Given the description of an element on the screen output the (x, y) to click on. 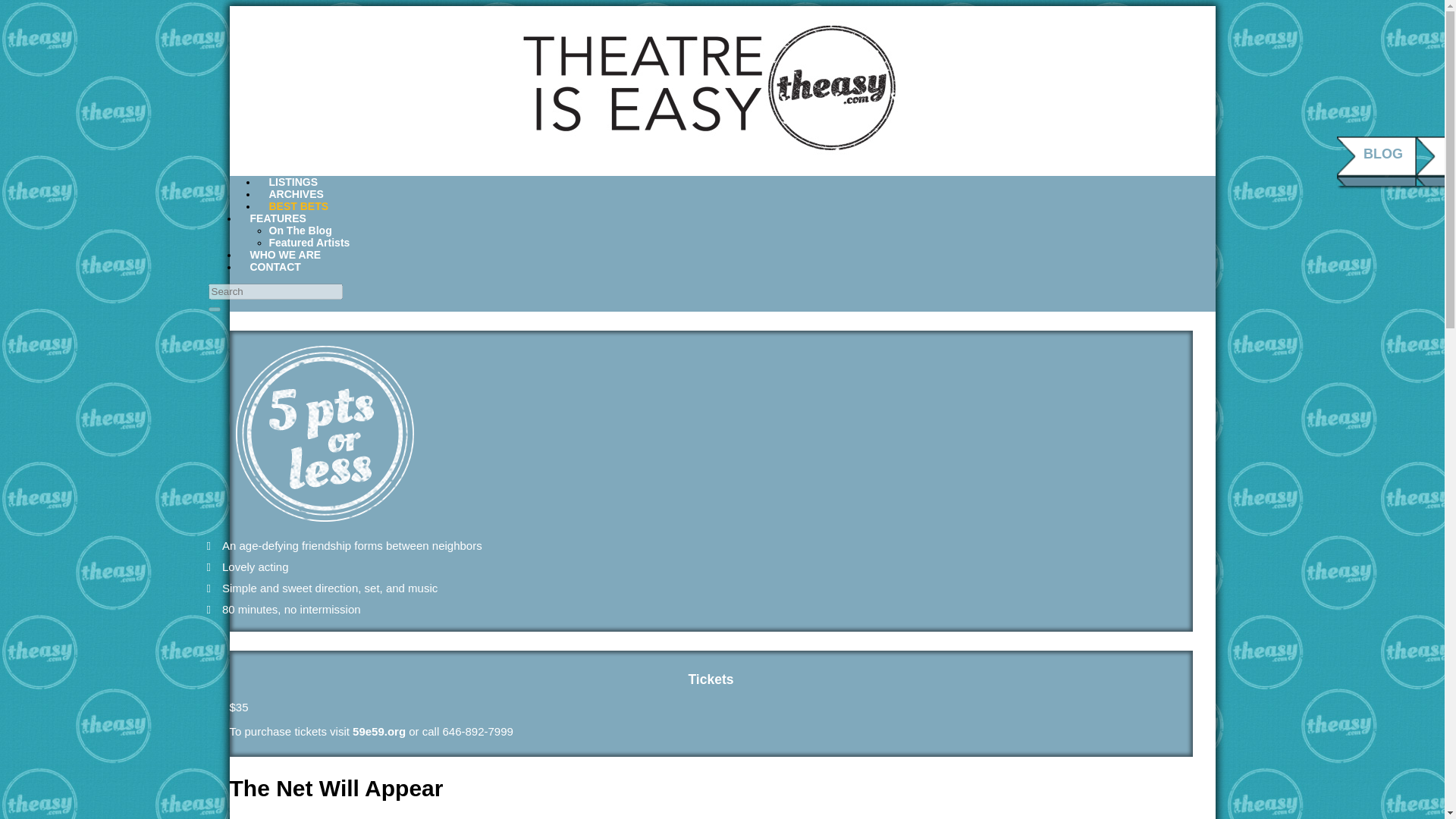
On The Blog (299, 230)
ARCHIVES (295, 193)
LISTINGS (293, 181)
BLOG (1382, 153)
CONTACT (274, 266)
59e59.org (379, 730)
FEATURES (277, 217)
WHO WE ARE (284, 254)
Featured Artists (308, 242)
BEST BETS (298, 206)
